Given the description of an element on the screen output the (x, y) to click on. 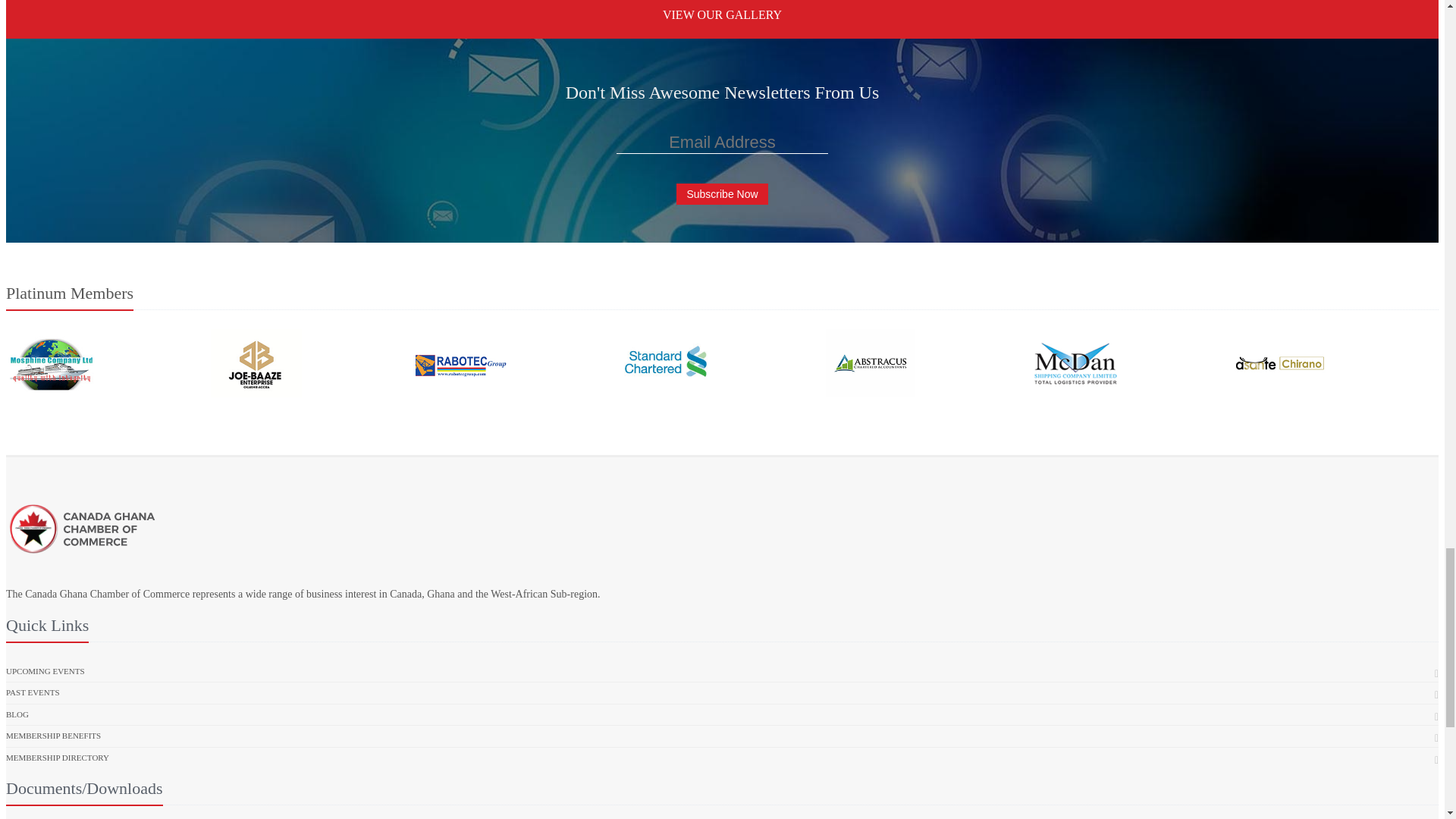
Subscribe Now (722, 193)
VIEW OUR GALLERY (721, 14)
